Given the description of an element on the screen output the (x, y) to click on. 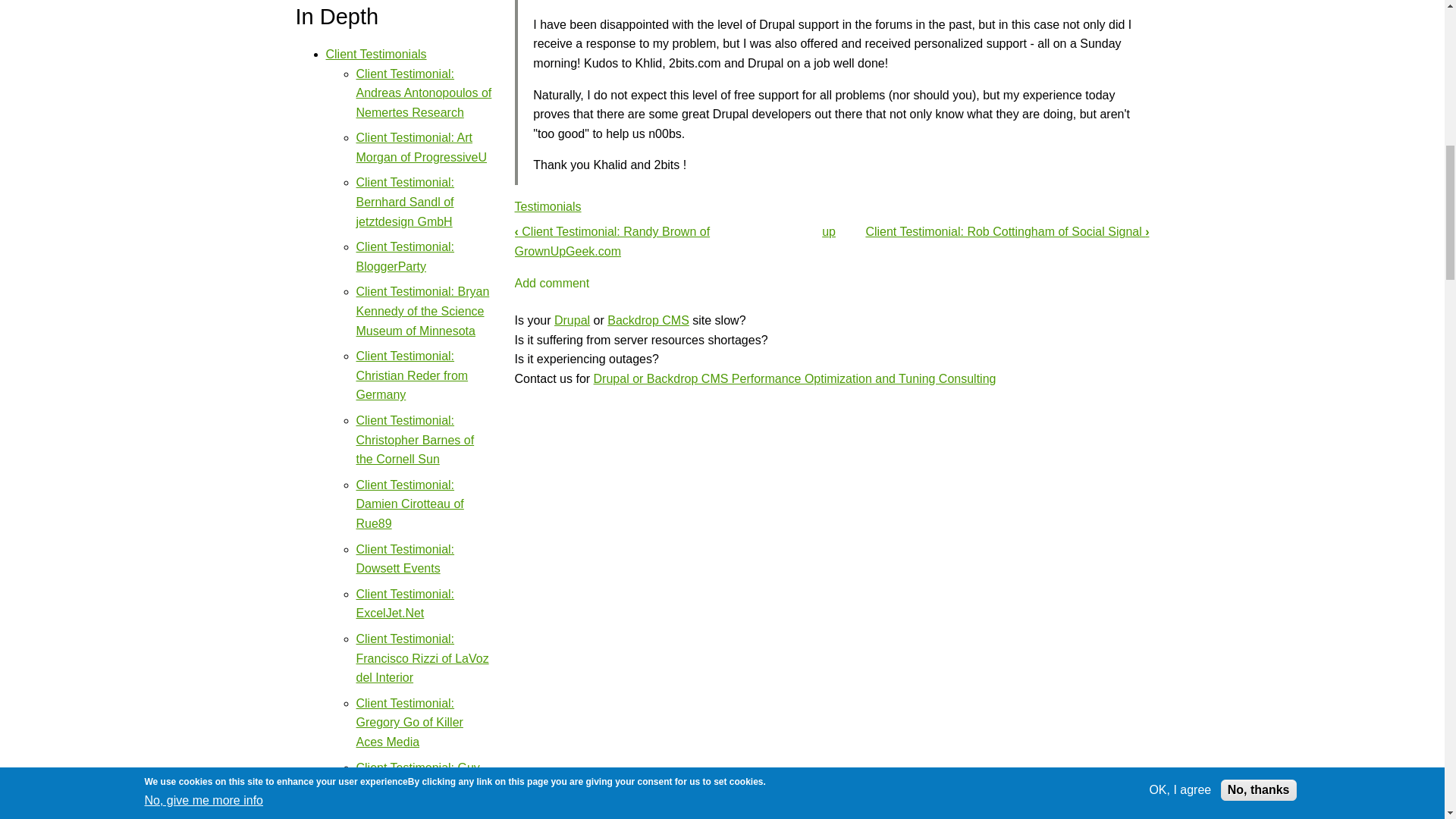
Add comment (551, 282)
Client Testimonial: Damien Cirotteau of Rue89 (410, 503)
Client Testimonial: Art Morgan of ProgressiveU (421, 147)
Client Testimonials (376, 53)
Client Testimonial: Bernhard Sandl of jetztdesign GmbH (405, 201)
Share your thoughts and opinions related to this posting. (551, 282)
Client Testimonial: Christopher Barnes of the Cornell Sun (415, 440)
Go to previous page (611, 241)
